Given the description of an element on the screen output the (x, y) to click on. 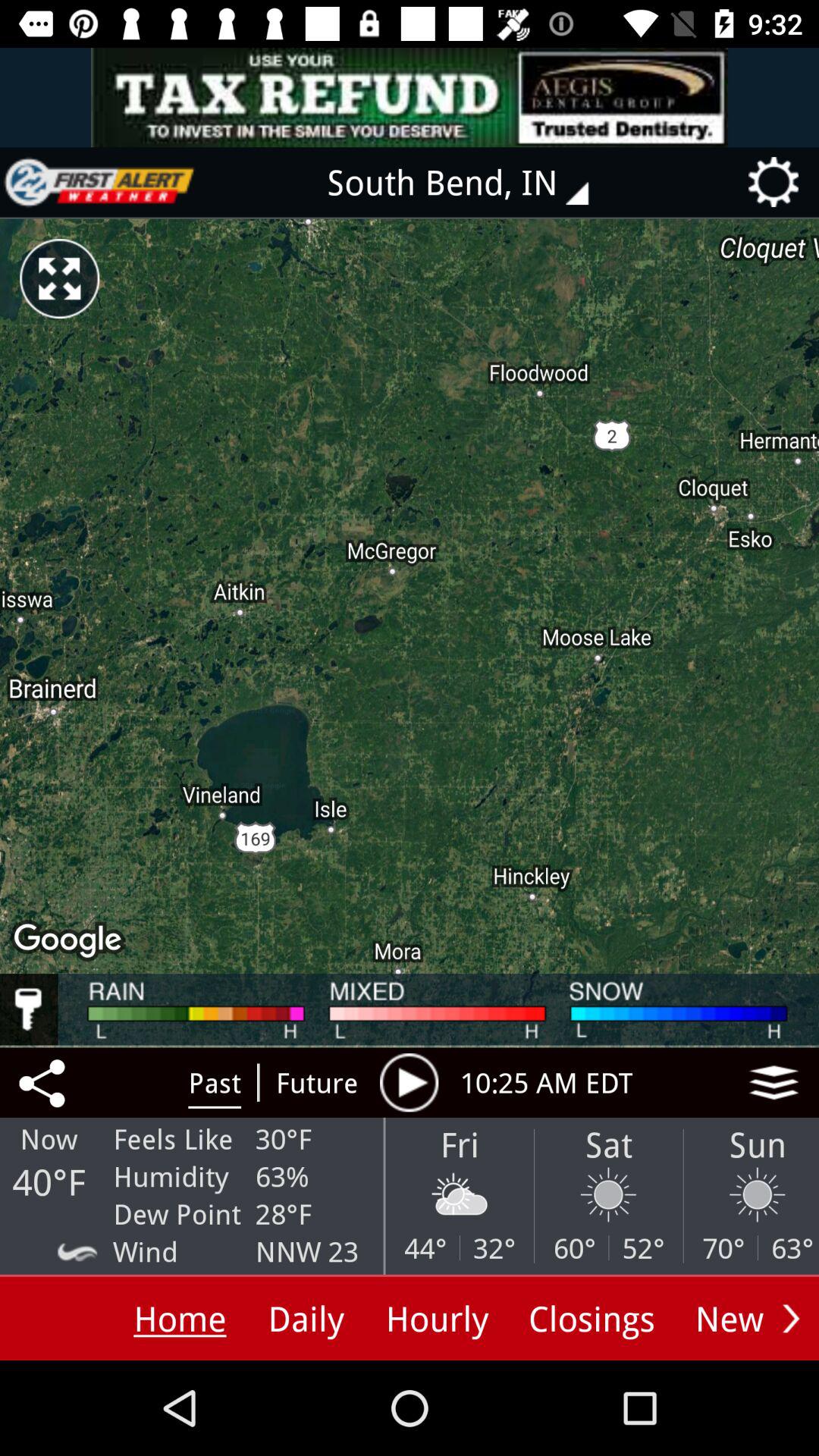
share to other media (44, 1082)
